Given the description of an element on the screen output the (x, y) to click on. 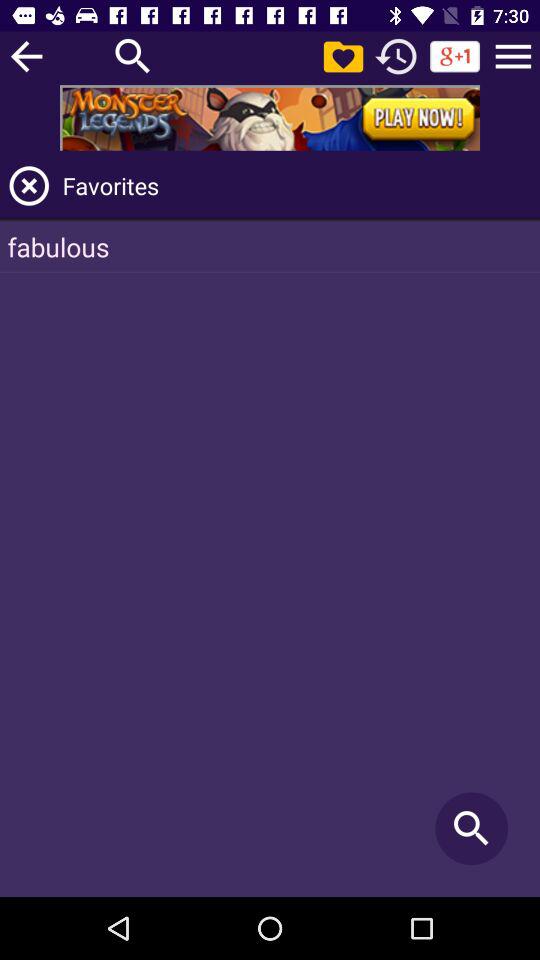
advertisement (270, 117)
